Given the description of an element on the screen output the (x, y) to click on. 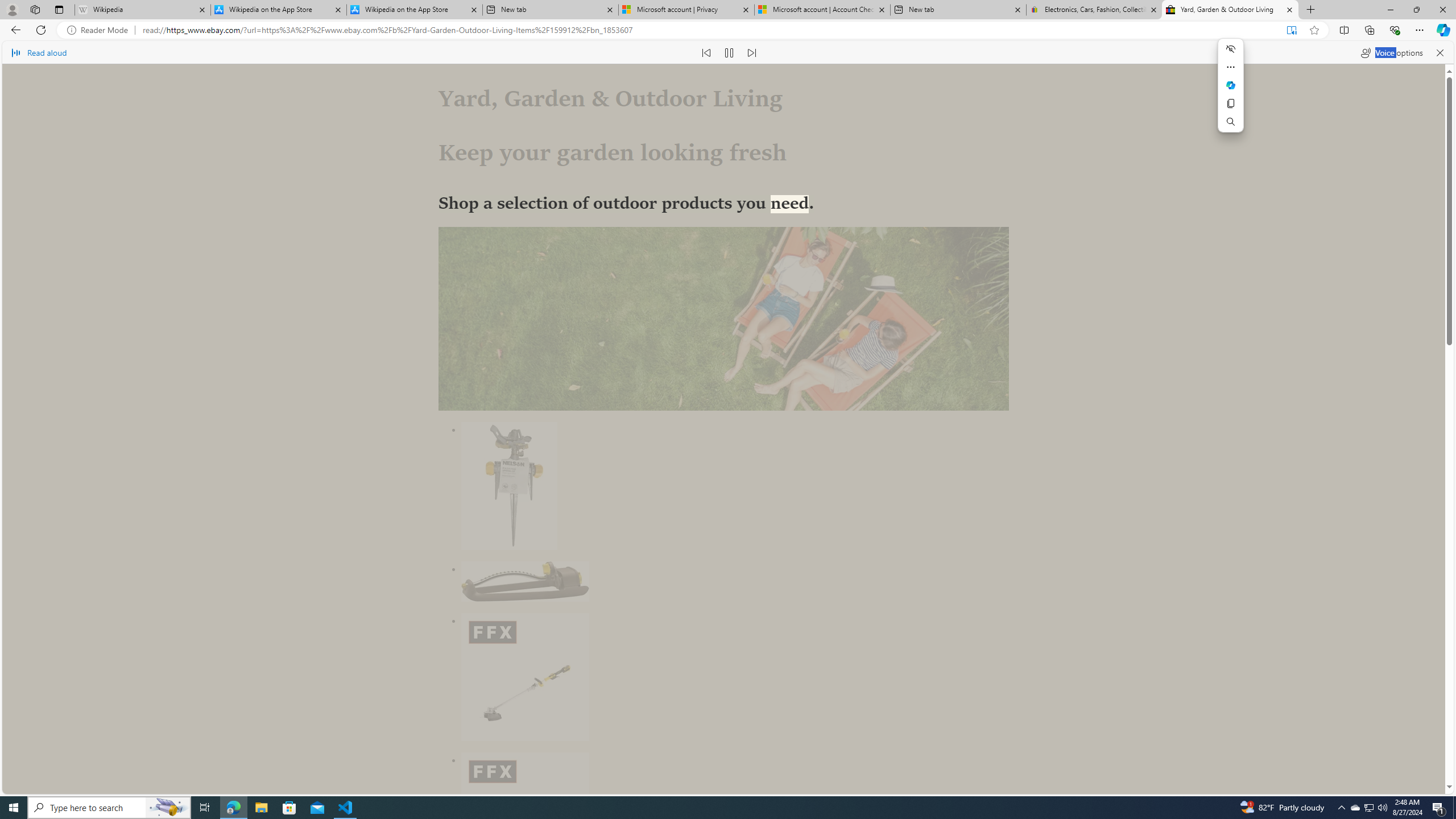
Read previous paragraph (705, 52)
riding lawn mowers (680, 598)
